Given the description of an element on the screen output the (x, y) to click on. 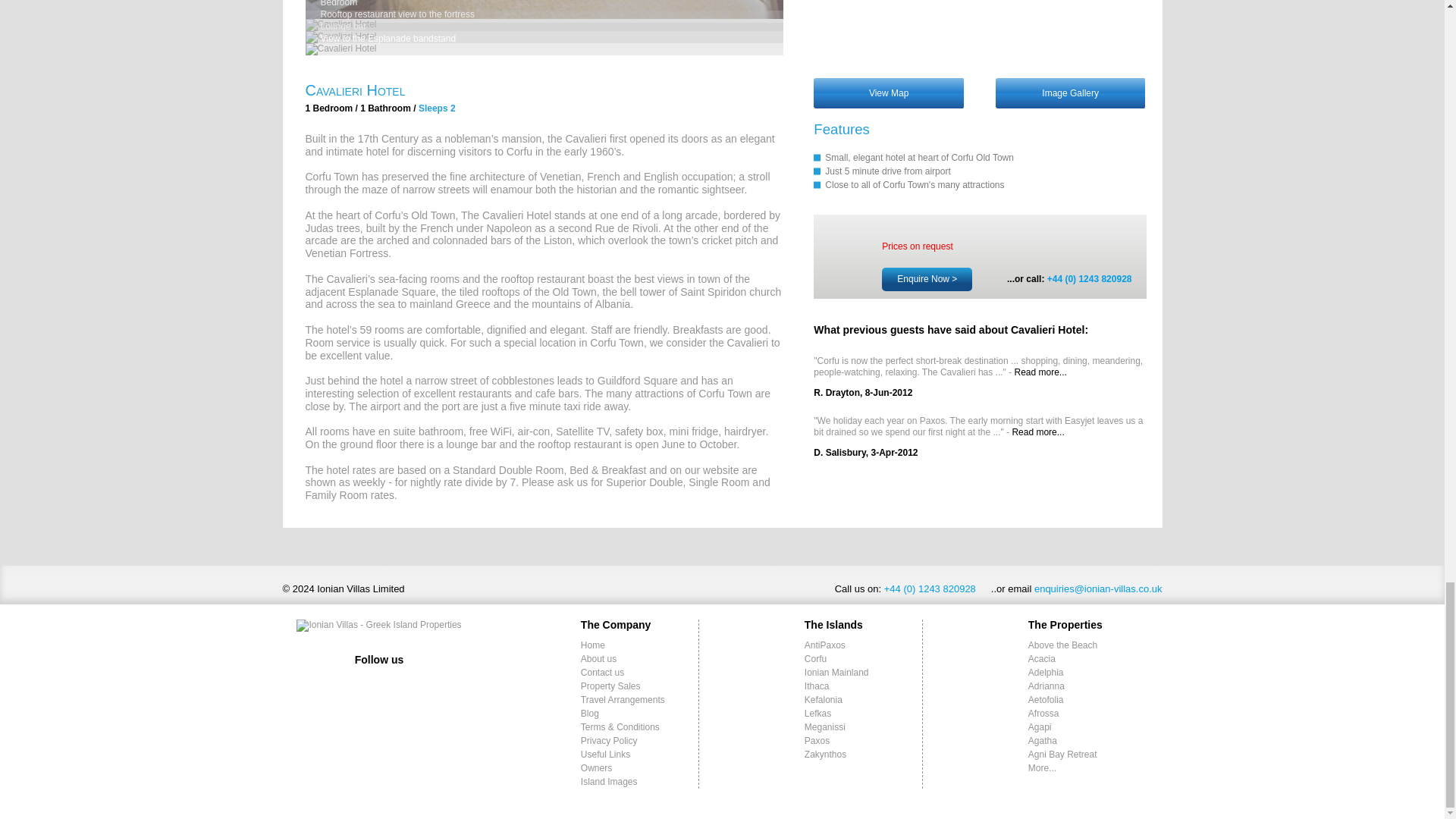
twitter (379, 684)
Useful Links (605, 754)
Read more... (1040, 371)
Home (592, 644)
Home (592, 644)
Property Sales (610, 685)
About us (597, 658)
Image Gallery (1071, 92)
About us (597, 658)
Contact us (602, 672)
View Map (889, 92)
Privacy Policy (608, 740)
Read more... (1037, 431)
Blog (589, 713)
instagram (403, 684)
